Given the description of an element on the screen output the (x, y) to click on. 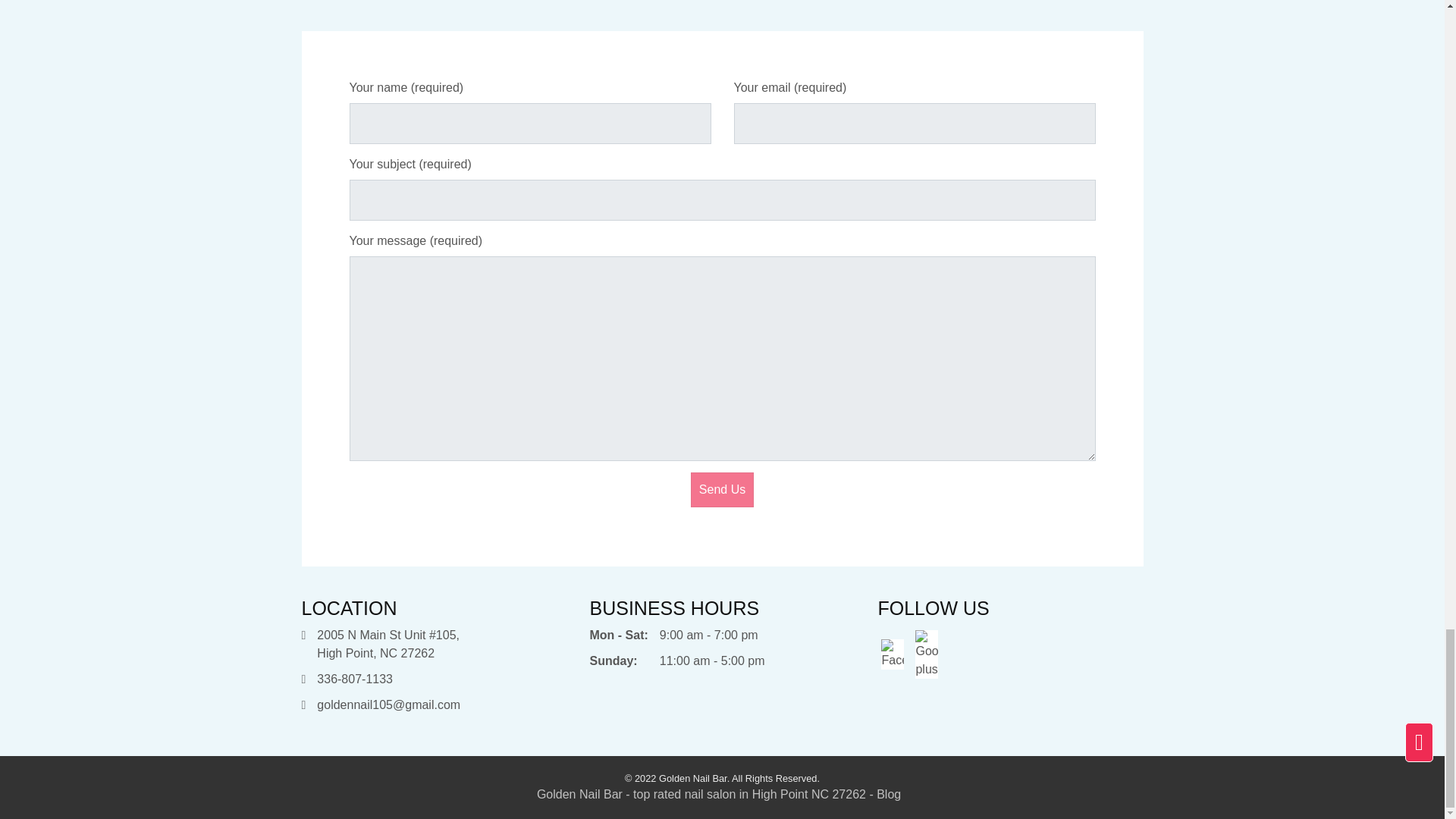
Send Us (722, 489)
336-807-1133 (355, 678)
